Given the description of an element on the screen output the (x, y) to click on. 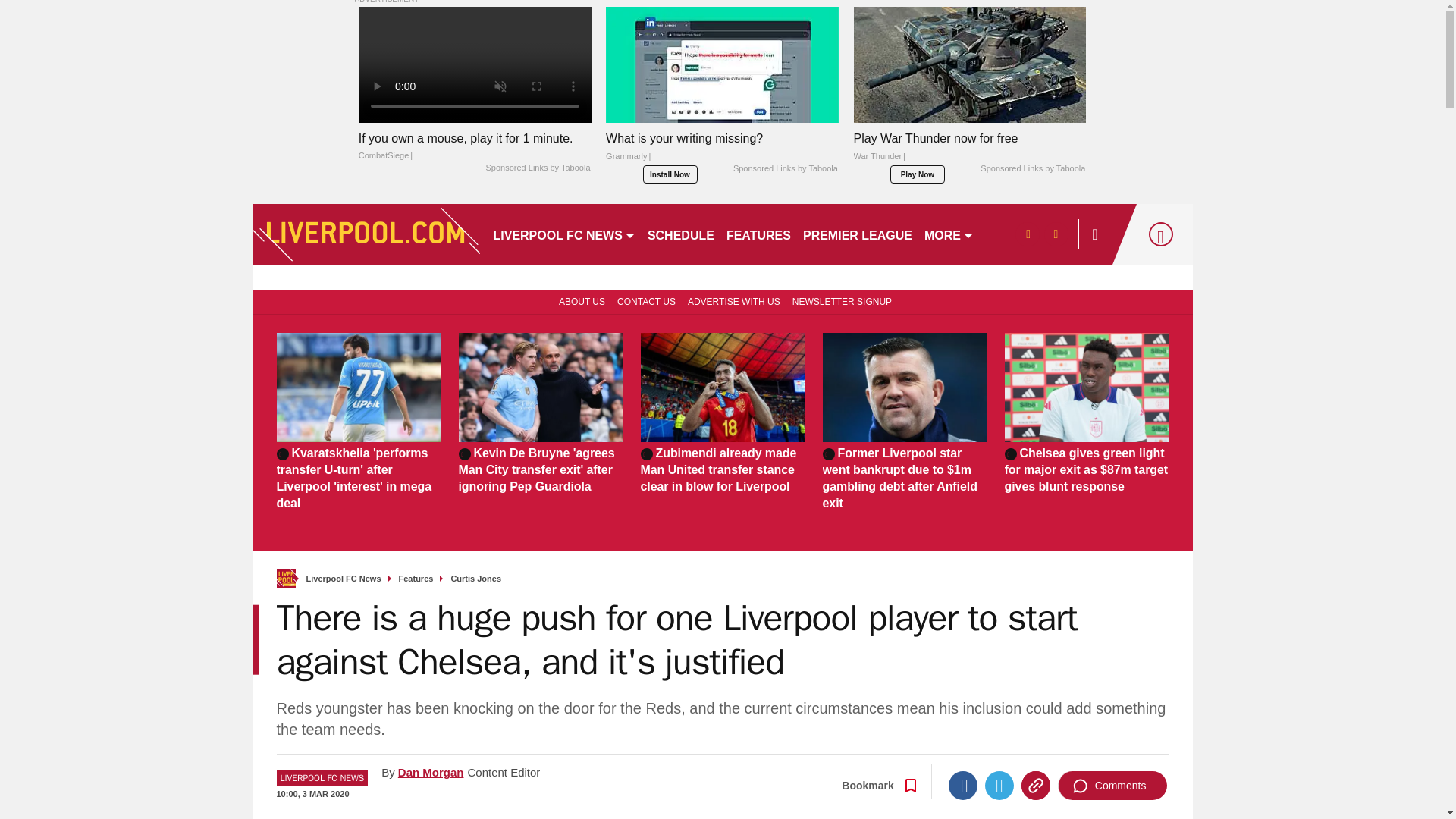
MORE (948, 233)
What is your writing missing? (721, 64)
Play War Thunder now for free (969, 64)
Sponsored Links by Taboola (536, 167)
If you own a mouse, play it for 1 minute. (474, 64)
Facebook (962, 785)
What is your writing missing? (721, 151)
Play War Thunder now for free (969, 151)
If you own a mouse, play it for 1 minute. (474, 146)
CONTACT US (646, 300)
LIVERPOOL FC NEWS (563, 233)
SCHEDULE (681, 233)
Play Now (916, 174)
